Given the description of an element on the screen output the (x, y) to click on. 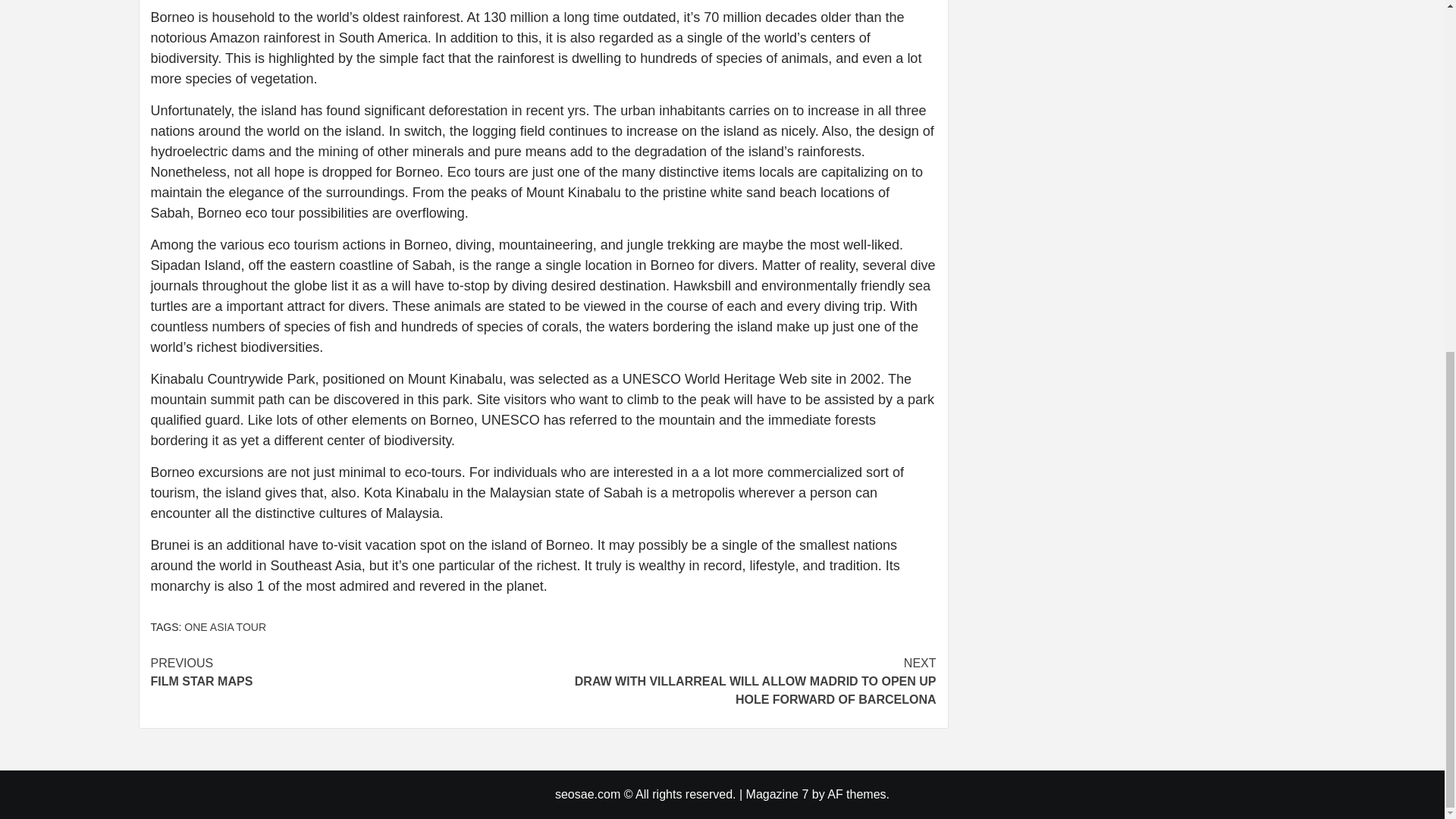
ONE ASIA TOUR (225, 626)
Magazine 7 (777, 793)
